Given the description of an element on the screen output the (x, y) to click on. 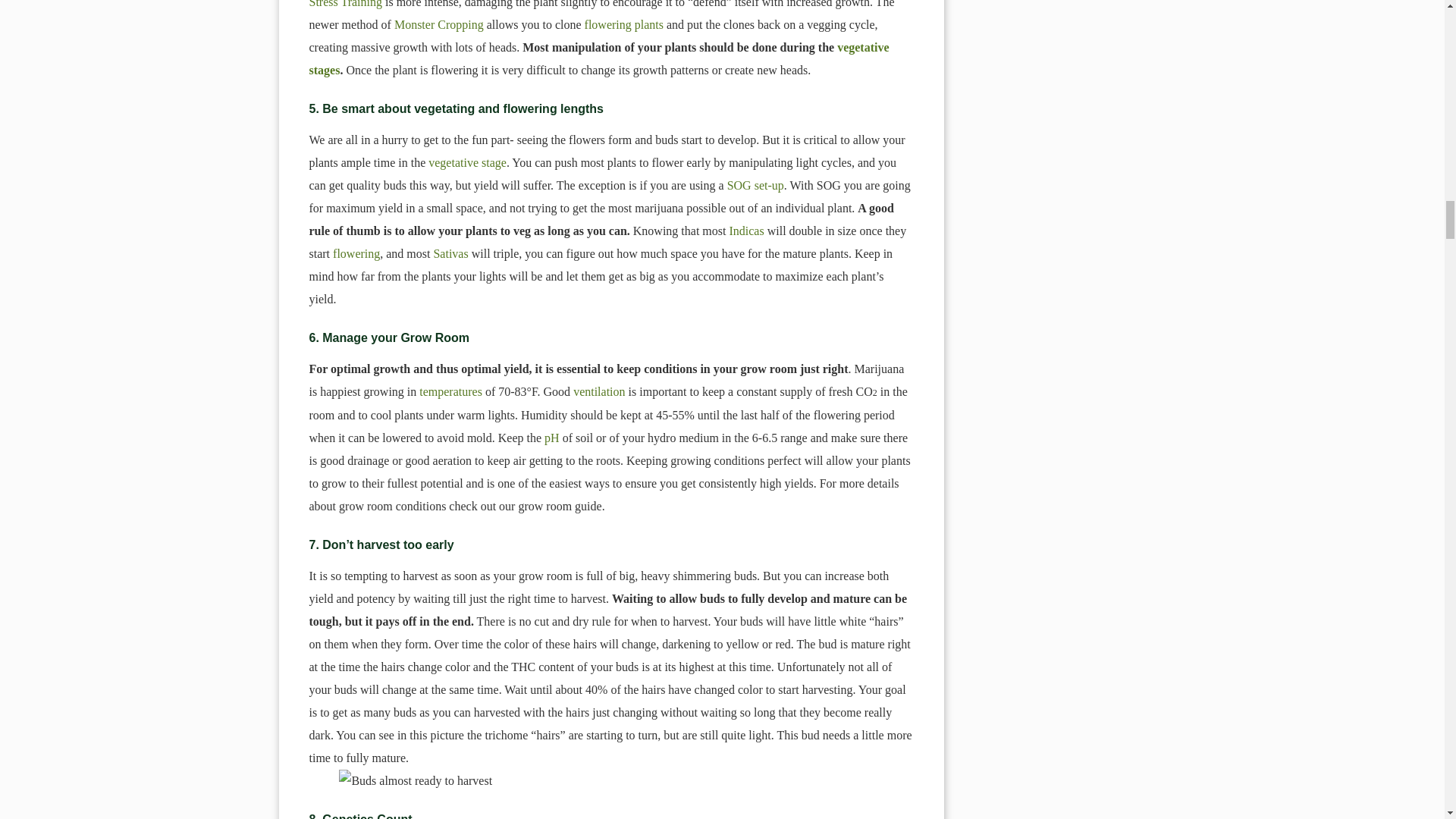
Buds almost ready to harvest (611, 780)
